Given the description of an element on the screen output the (x, y) to click on. 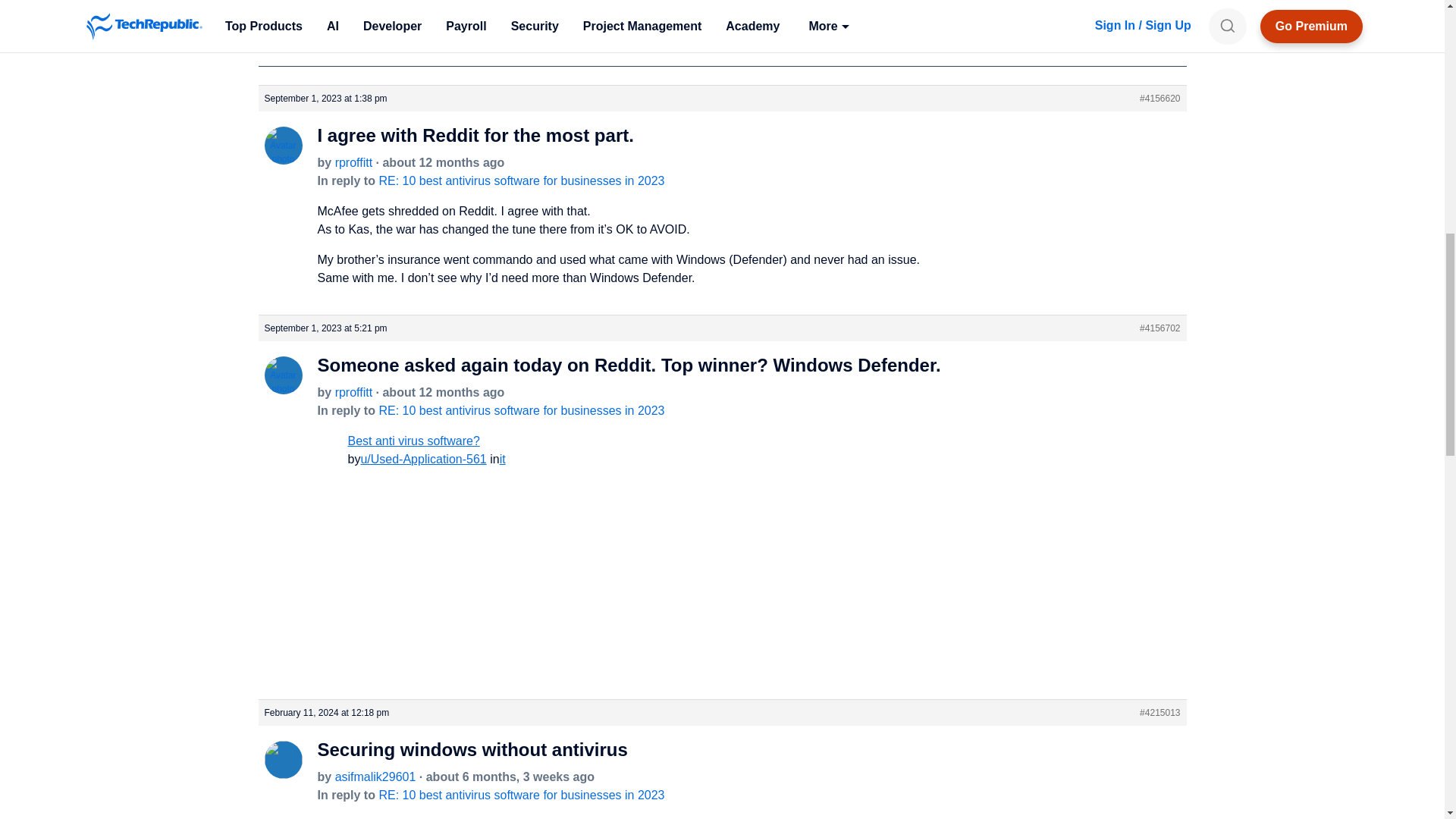
View rproffitt's profile (282, 157)
View rproffitt's profile (353, 391)
View asifmalik29601's profile (375, 776)
View asifmalik29601's profile (282, 771)
View rproffitt's profile (353, 162)
View rproffitt's profile (282, 387)
